Given the description of an element on the screen output the (x, y) to click on. 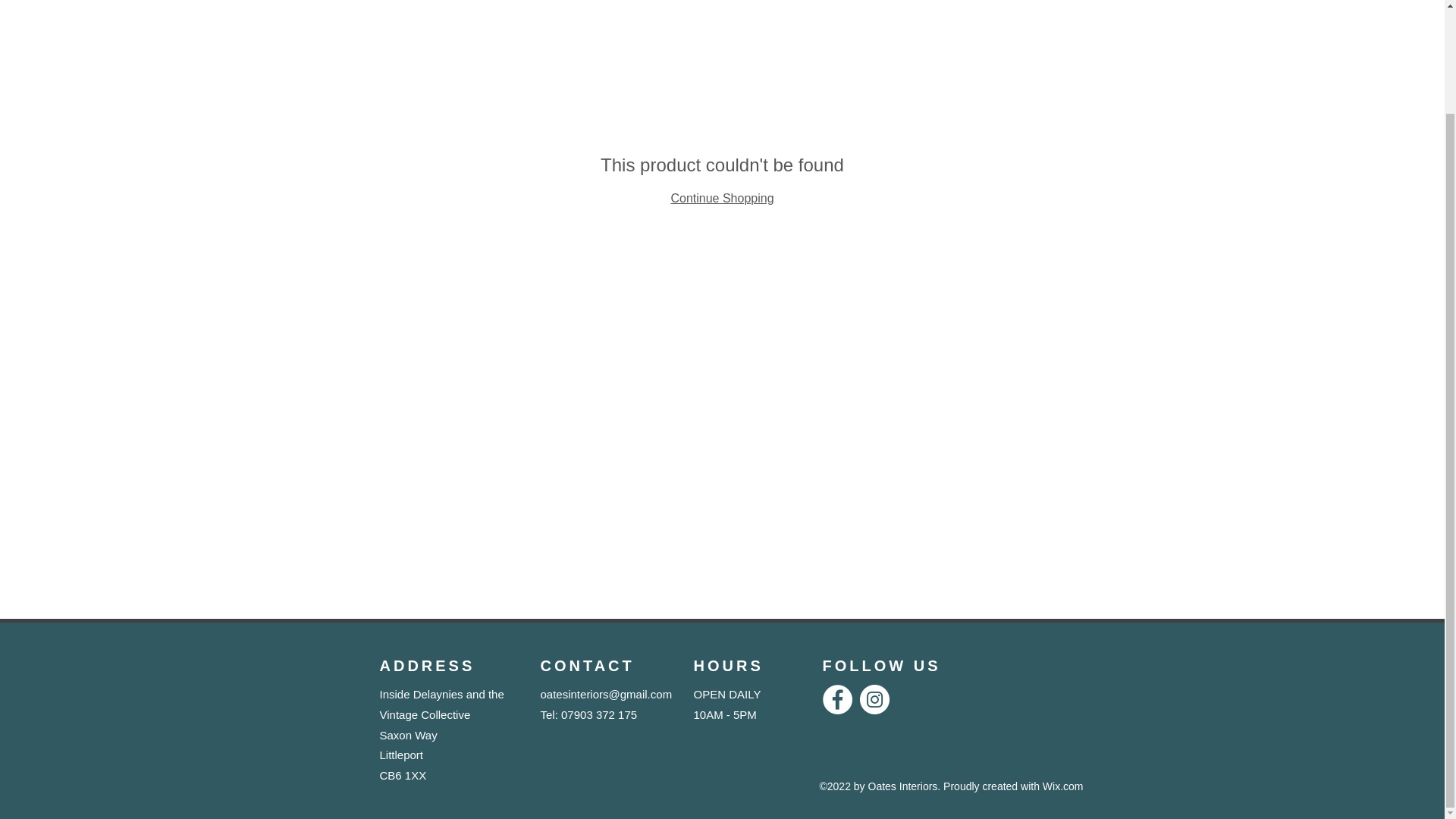
Continue Shopping (721, 197)
Home (569, 9)
Commissions (1148, 9)
Shop Furniture (811, 9)
Shop (680, 9)
Resin and Personalised (981, 9)
